Given the description of an element on the screen output the (x, y) to click on. 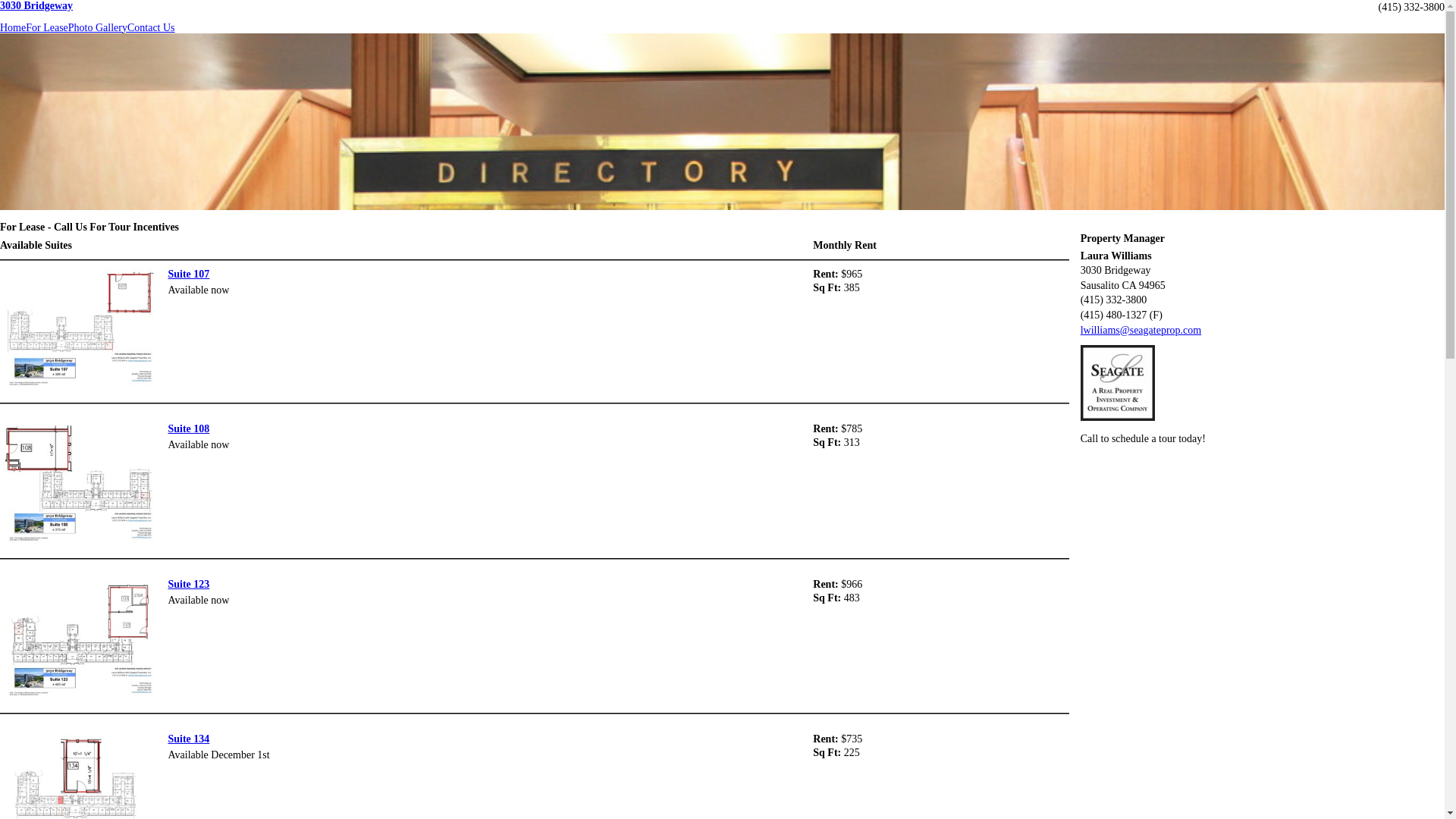
For Lease Element type: text (46, 27)
lwilliams@seagateprop.com Element type: text (1140, 329)
Photo Gallery Element type: text (97, 27)
108-VacancyFlyer6.6.23.jpg Element type: hover (80, 485)
Home Element type: text (12, 27)
Contact Us Element type: text (151, 27)
Suite 134 Element type: text (188, 738)
Suite 123 Element type: text (188, 583)
123-VacancyFlyer3.6.23.jpg Element type: hover (80, 640)
Suite 108 Element type: text (188, 428)
3030 Bridgeway Element type: text (36, 5)
107-VacancyFlyer11.15.23.jpg Element type: hover (80, 330)
Suite 107 Element type: text (188, 273)
